Given the description of an element on the screen output the (x, y) to click on. 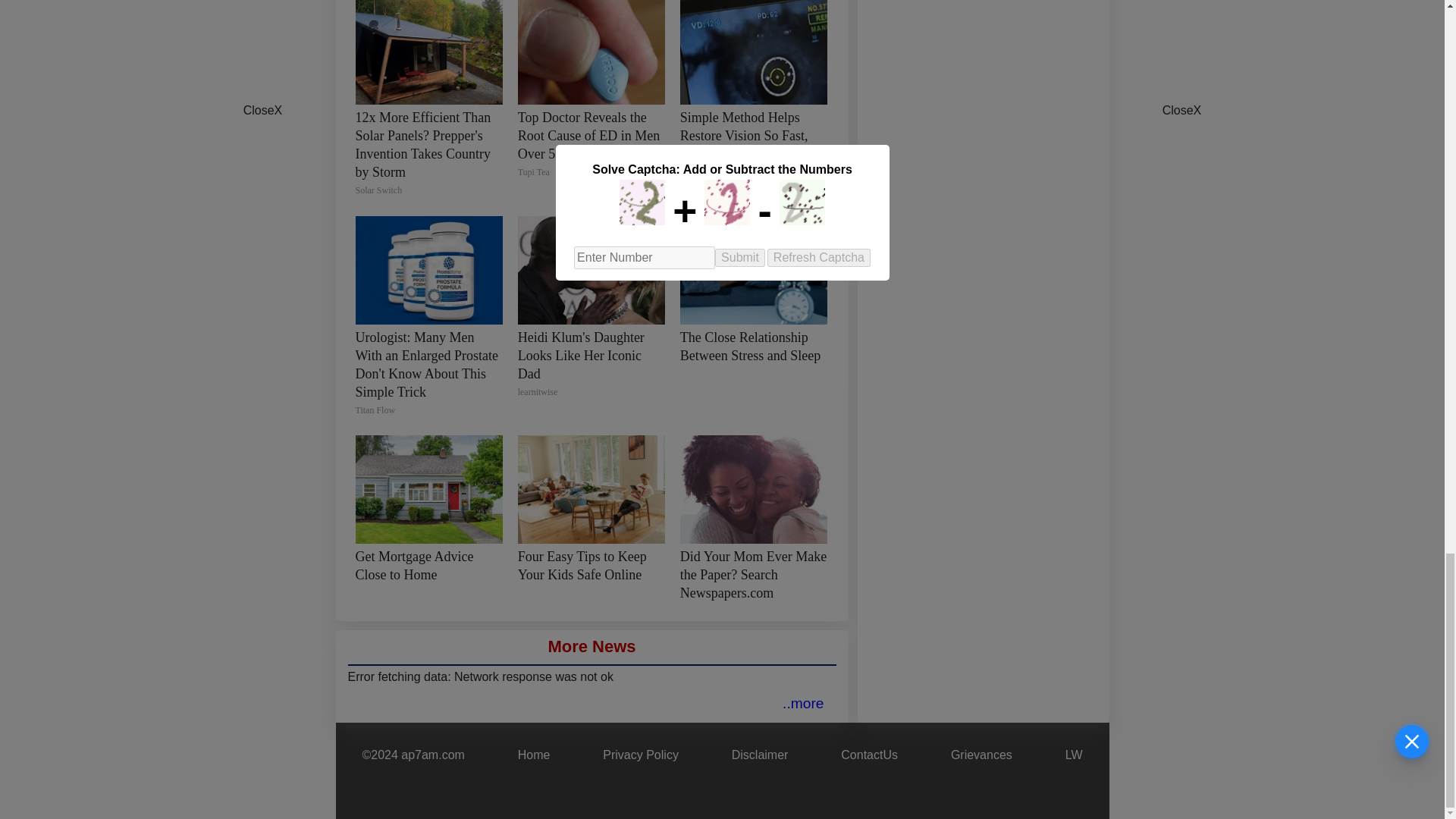
ap7am.com home page (534, 754)
Read Privacy Policy (640, 754)
English News (803, 703)
